Given the description of an element on the screen output the (x, y) to click on. 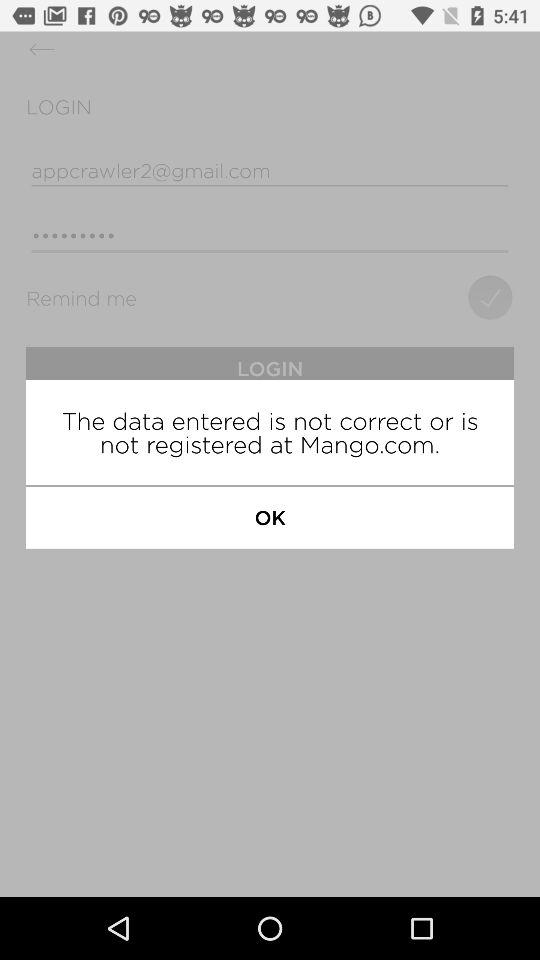
scroll until the ok icon (269, 517)
